Given the description of an element on the screen output the (x, y) to click on. 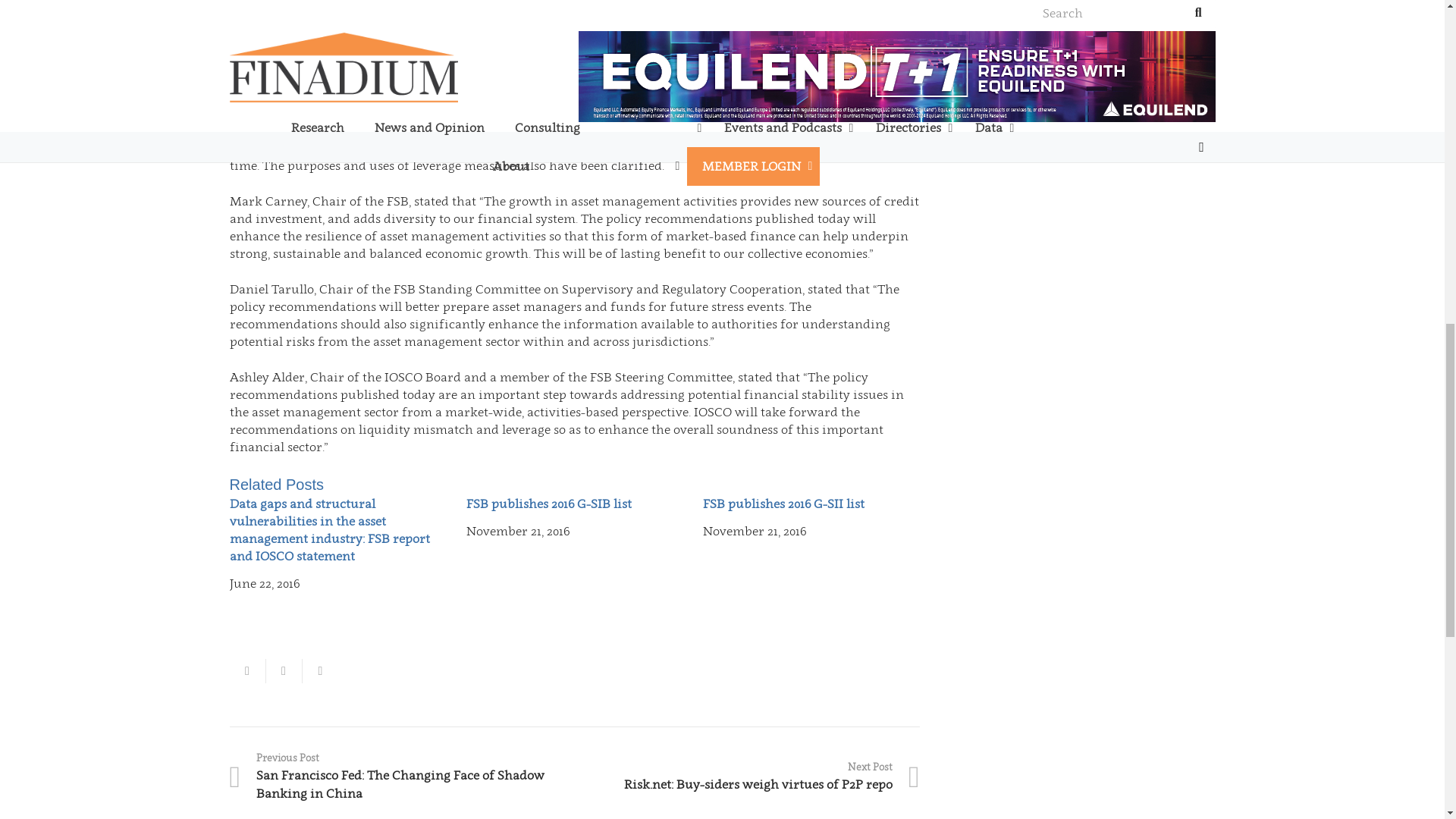
Share this (319, 671)
Share this (282, 671)
Email this (246, 671)
Risk.net: Buy-siders weigh virtues of P2P repo (747, 776)
Back to top (1413, 26)
